Given the description of an element on the screen output the (x, y) to click on. 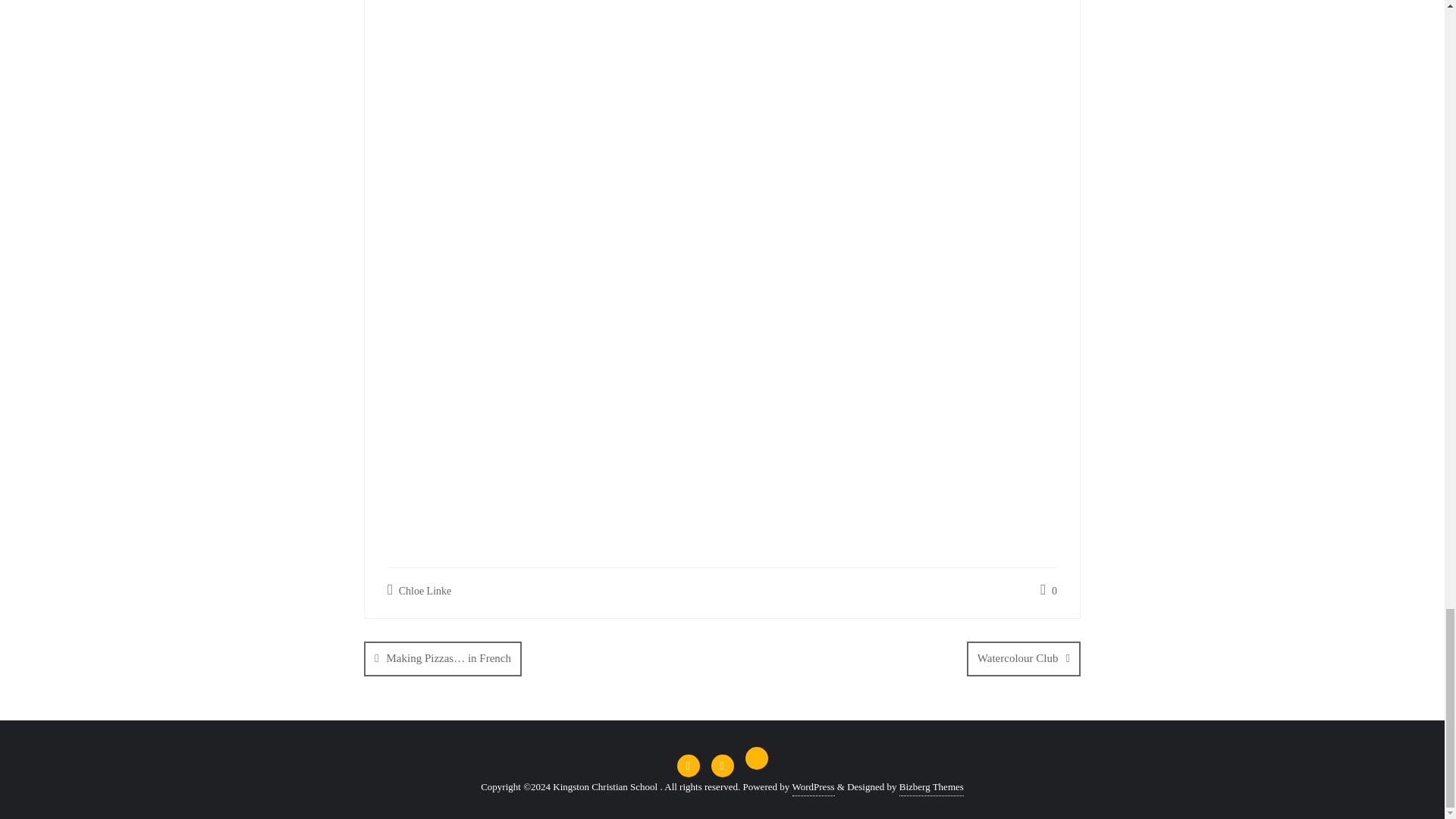
Watercolour Club (1023, 658)
Chloe Linke (419, 590)
WordPress (813, 787)
Bizberg Themes (931, 787)
